Given the description of an element on the screen output the (x, y) to click on. 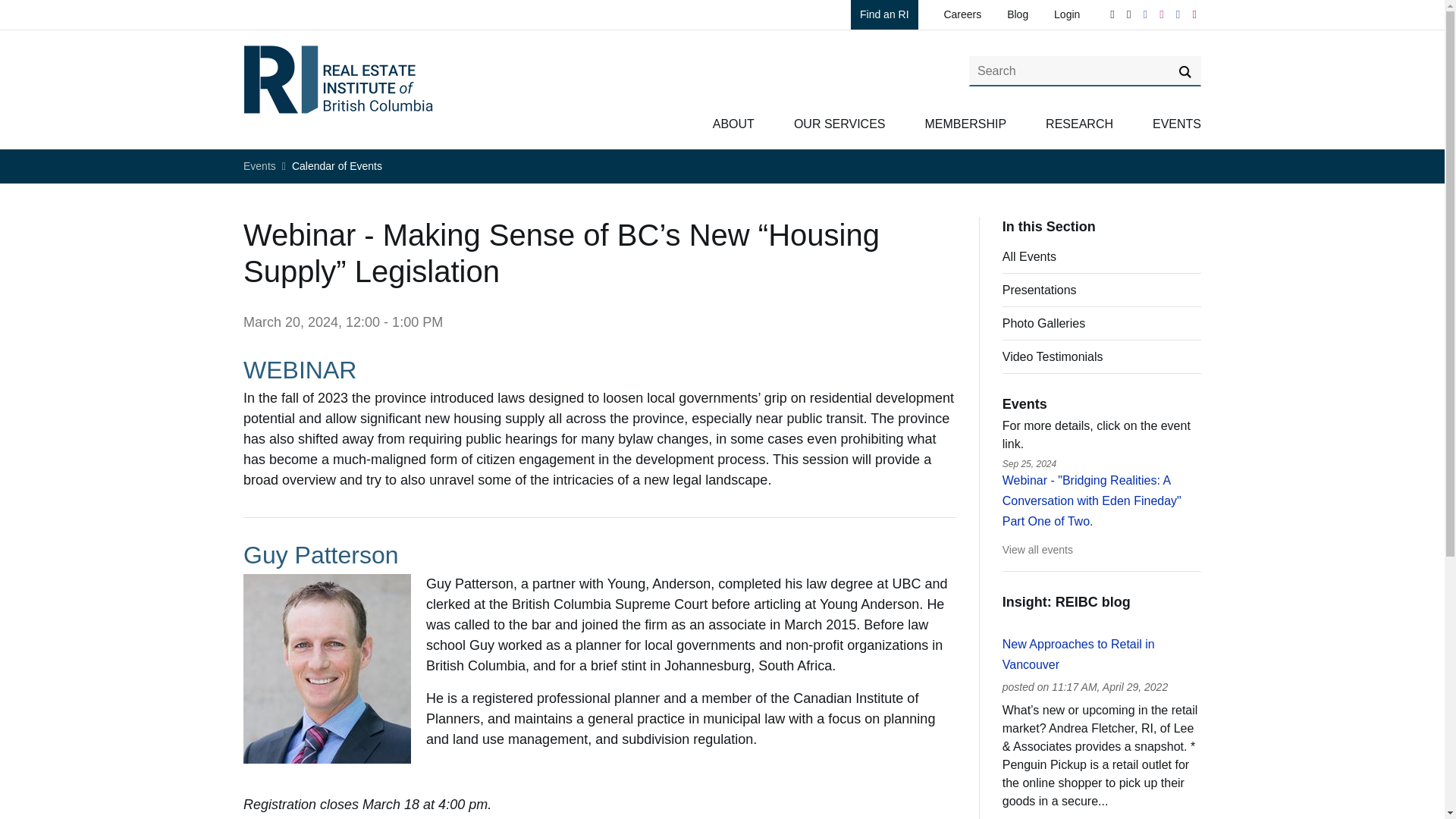
ABOUT (733, 124)
OUR SERVICES (839, 124)
Careers (962, 14)
Login (1067, 14)
Search (1185, 70)
Find an RI (884, 14)
Blog (1017, 14)
Search (1185, 70)
